Given the description of an element on the screen output the (x, y) to click on. 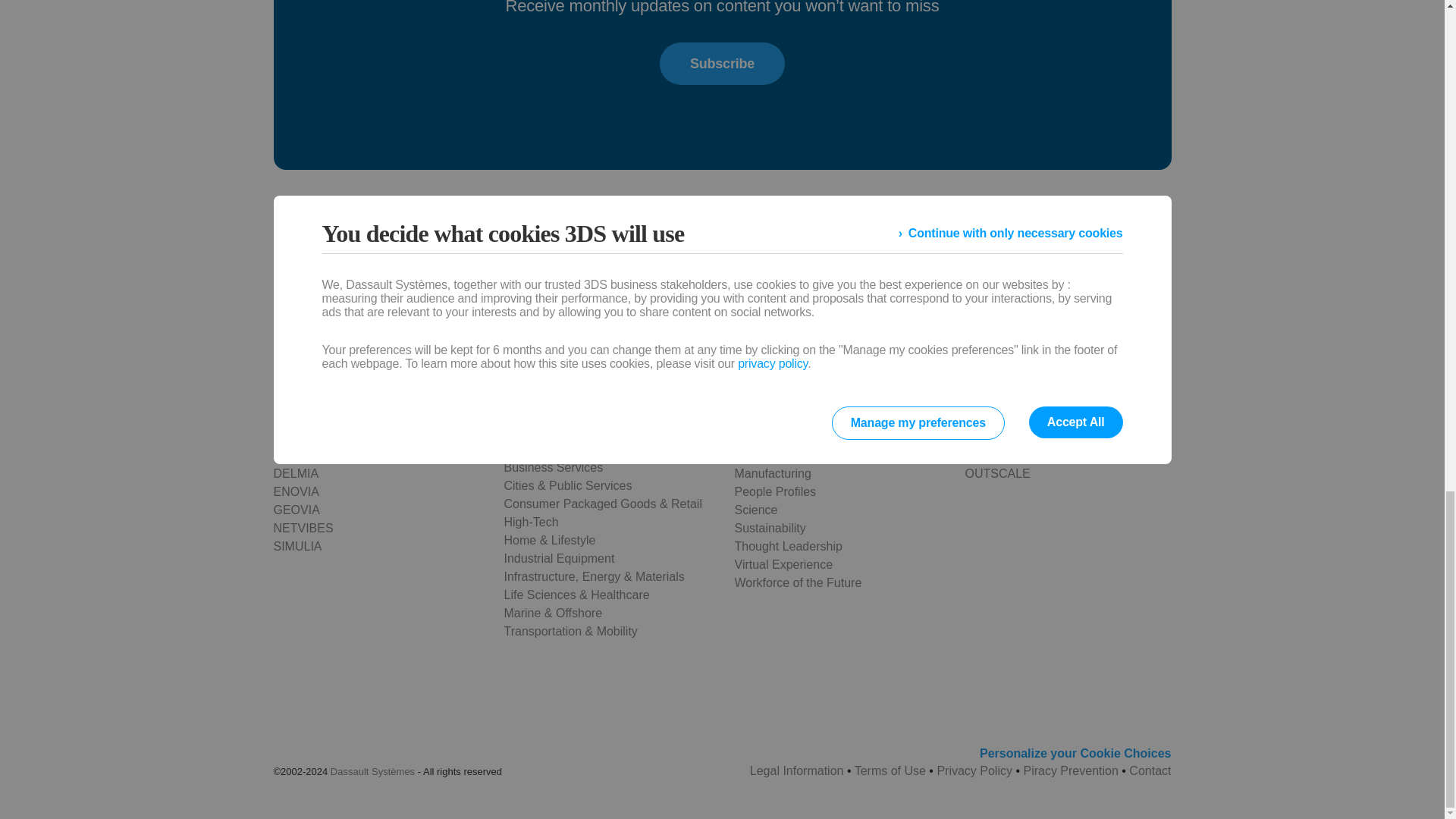
Twitter account (433, 302)
Linkedin account (472, 302)
Facebook account (393, 302)
